Given the description of an element on the screen output the (x, y) to click on. 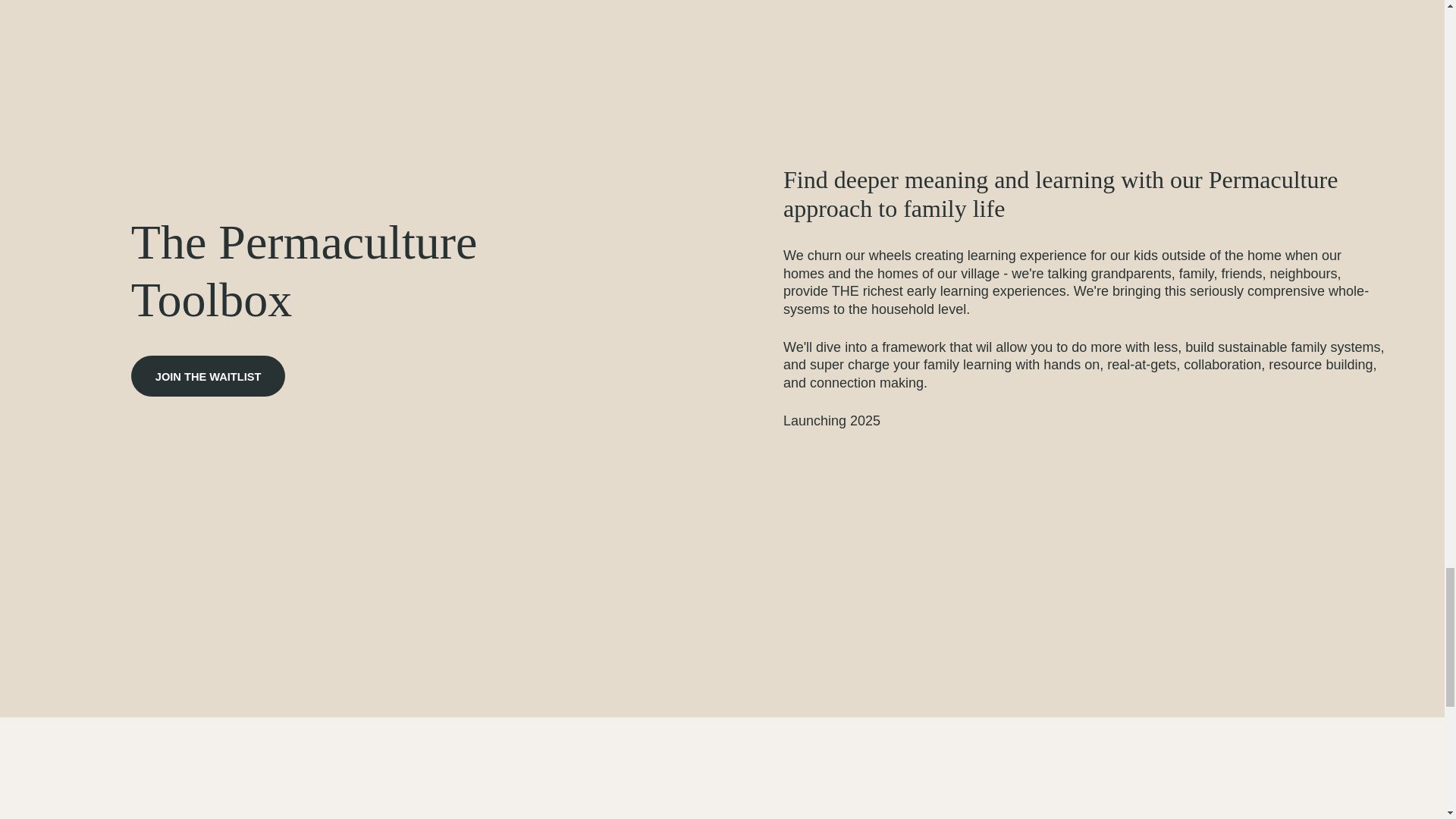
JOIN THE WAITLIST (208, 375)
Join the waitlist (208, 375)
